Given the description of an element on the screen output the (x, y) to click on. 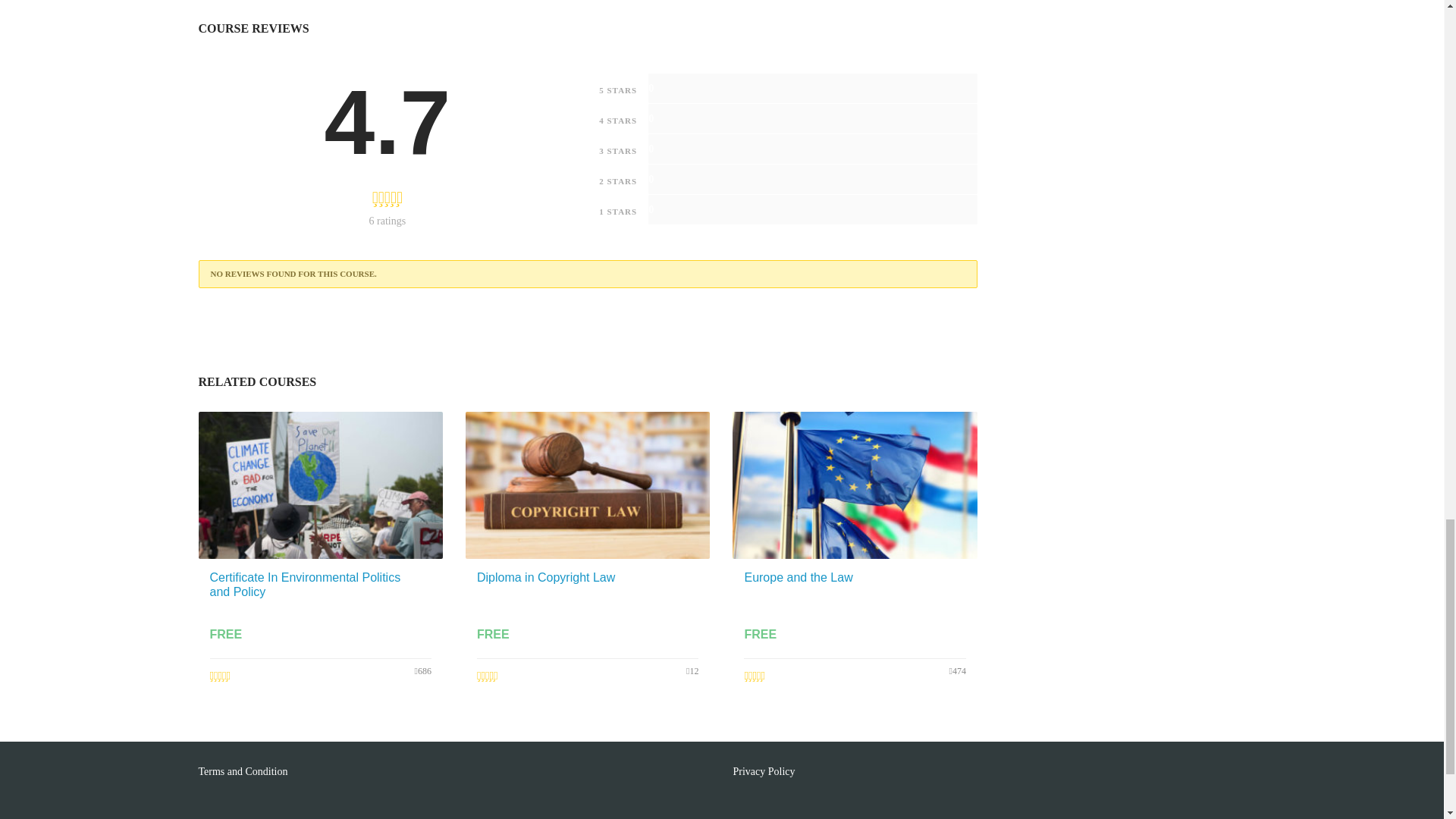
Terms and Condition  (244, 771)
Europe and the Law (797, 576)
Certificate In Environmental Politics and Policy (304, 583)
Diploma in Copyright Law (545, 576)
Certificate In Environmental Politics and Policy (304, 583)
Diploma in Copyright Law (545, 576)
Europe and the Law (797, 576)
